Given the description of an element on the screen output the (x, y) to click on. 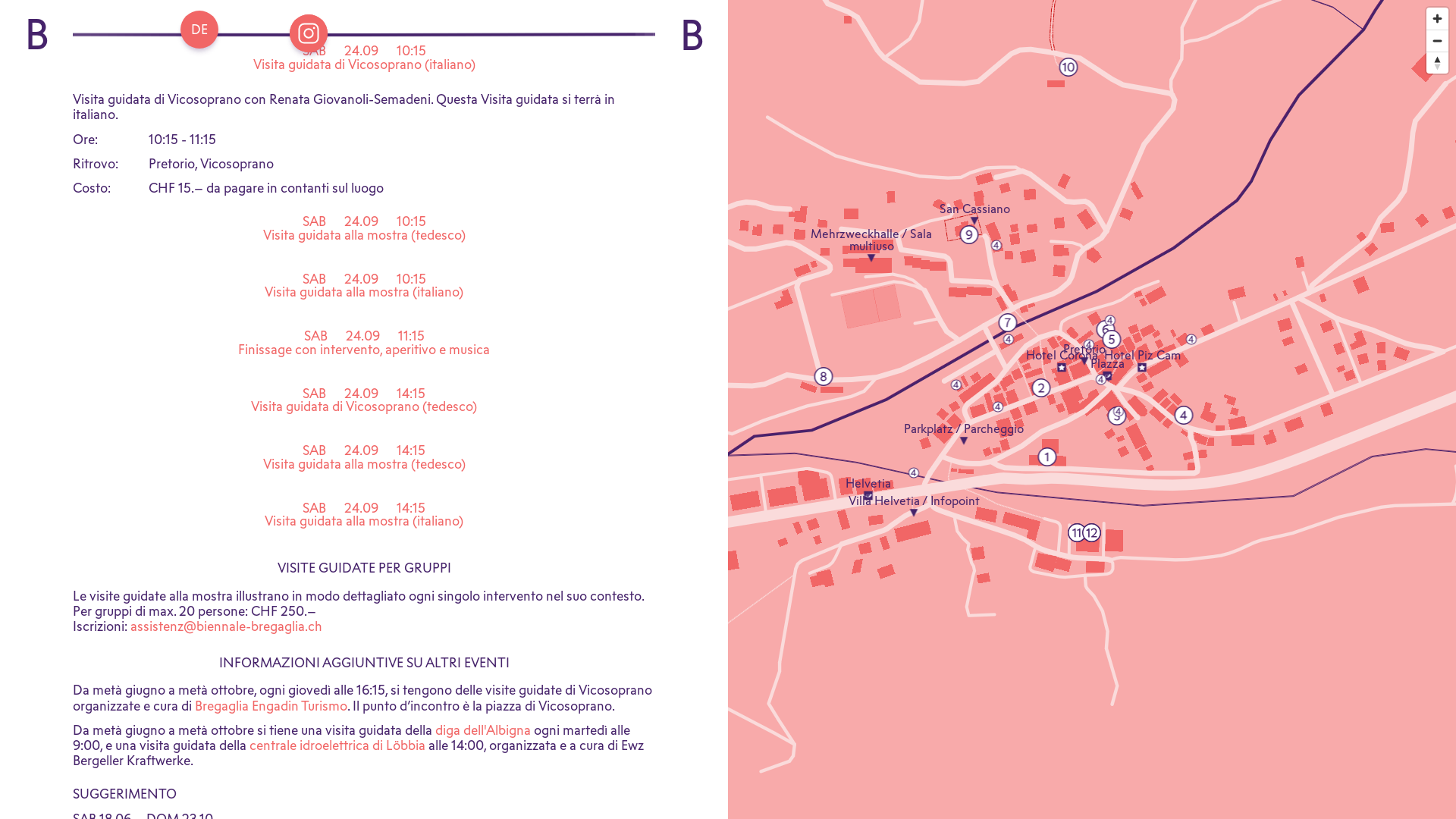
Zoom in Element type: hover (1437, 18)
B Element type: text (36, 34)
SAB24.0914:15
Visita guidata alla mostra (italiano) Element type: text (363, 520)
Reset bearing to north Element type: hover (1437, 62)
Zoom out Element type: hover (1437, 40)
SAB24.0910:15
Visita guidata alla mostra (tedesco) Element type: text (363, 233)
SAB24.0911:15
Finissage con intervento, aperitivo e musica Element type: text (363, 347)
SAB24.0914:15
Visita guidata alla mostra (tedesco) Element type: text (363, 462)
assistenz@biennale-bregaglia.ch Element type: text (226, 625)
SAB24.0910:15
Visita guidata di Vicosoprano (italiano) Element type: text (363, 63)
B Element type: text (691, 35)
diga dell'Albigna Element type: text (482, 729)
SAB24.0914:15
Visita guidata di Vicosoprano (tedesco) Element type: text (363, 405)
DE Element type: text (199, 29)
SAB24.0910:15
Visita guidata alla mostra (italiano) Element type: text (363, 291)
Bregaglia Engadin Turismo Element type: text (270, 705)
